Given the description of an element on the screen output the (x, y) to click on. 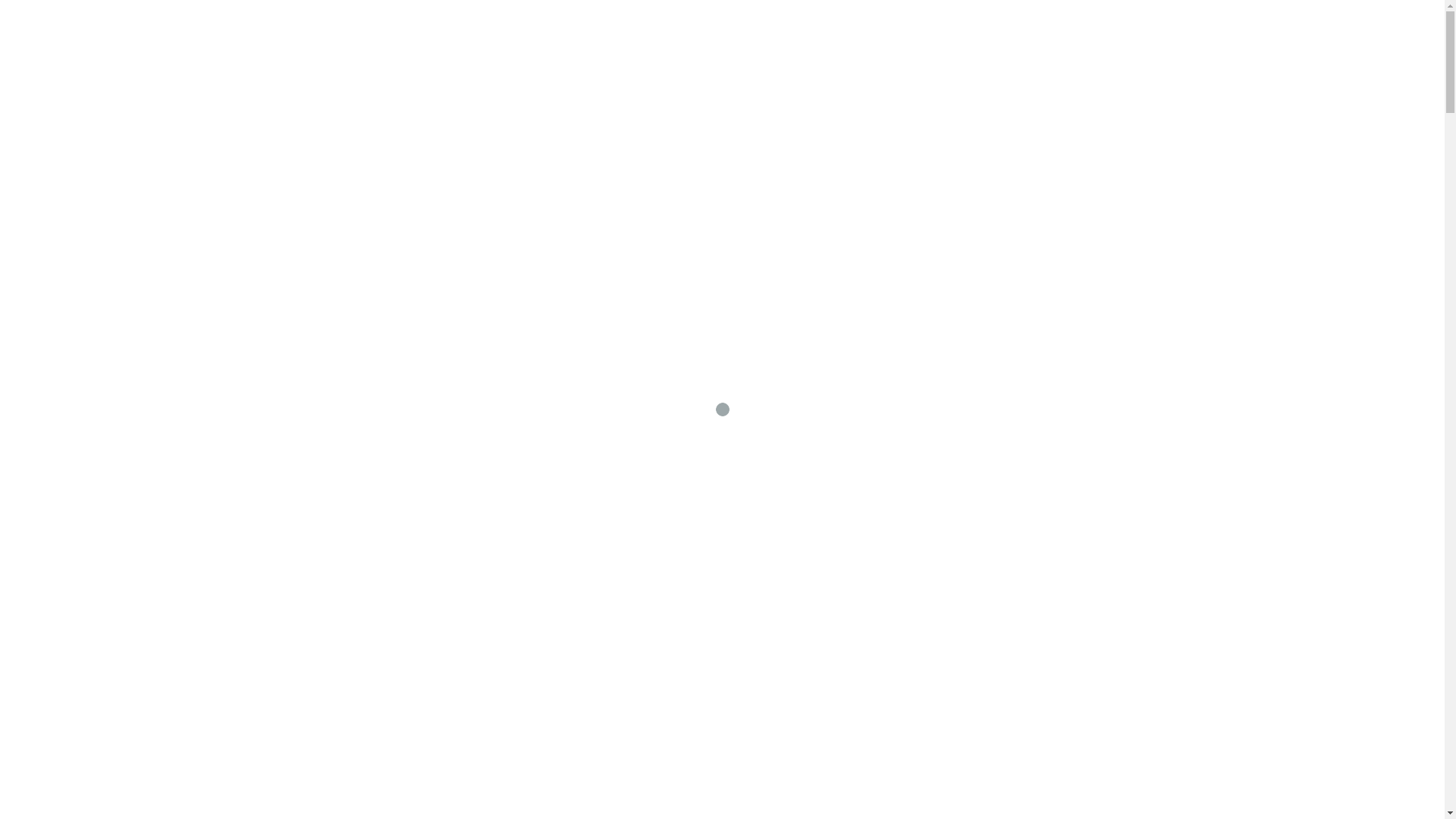
Home Element type: text (950, 79)
Contact Us Element type: text (1099, 79)
About Us Element type: text (1017, 79)
